Given the description of an element on the screen output the (x, y) to click on. 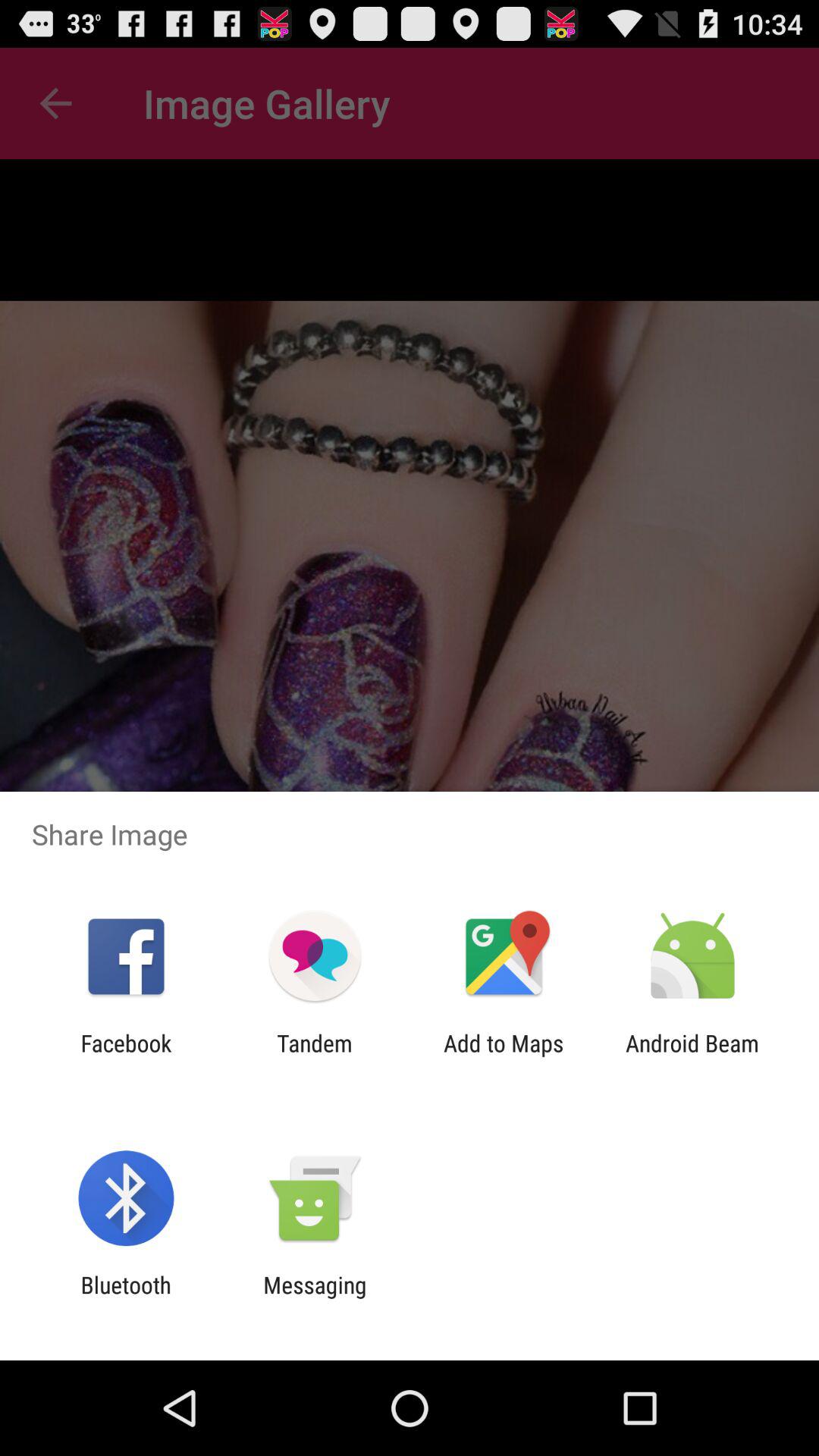
scroll to the bluetooth (125, 1298)
